Given the description of an element on the screen output the (x, y) to click on. 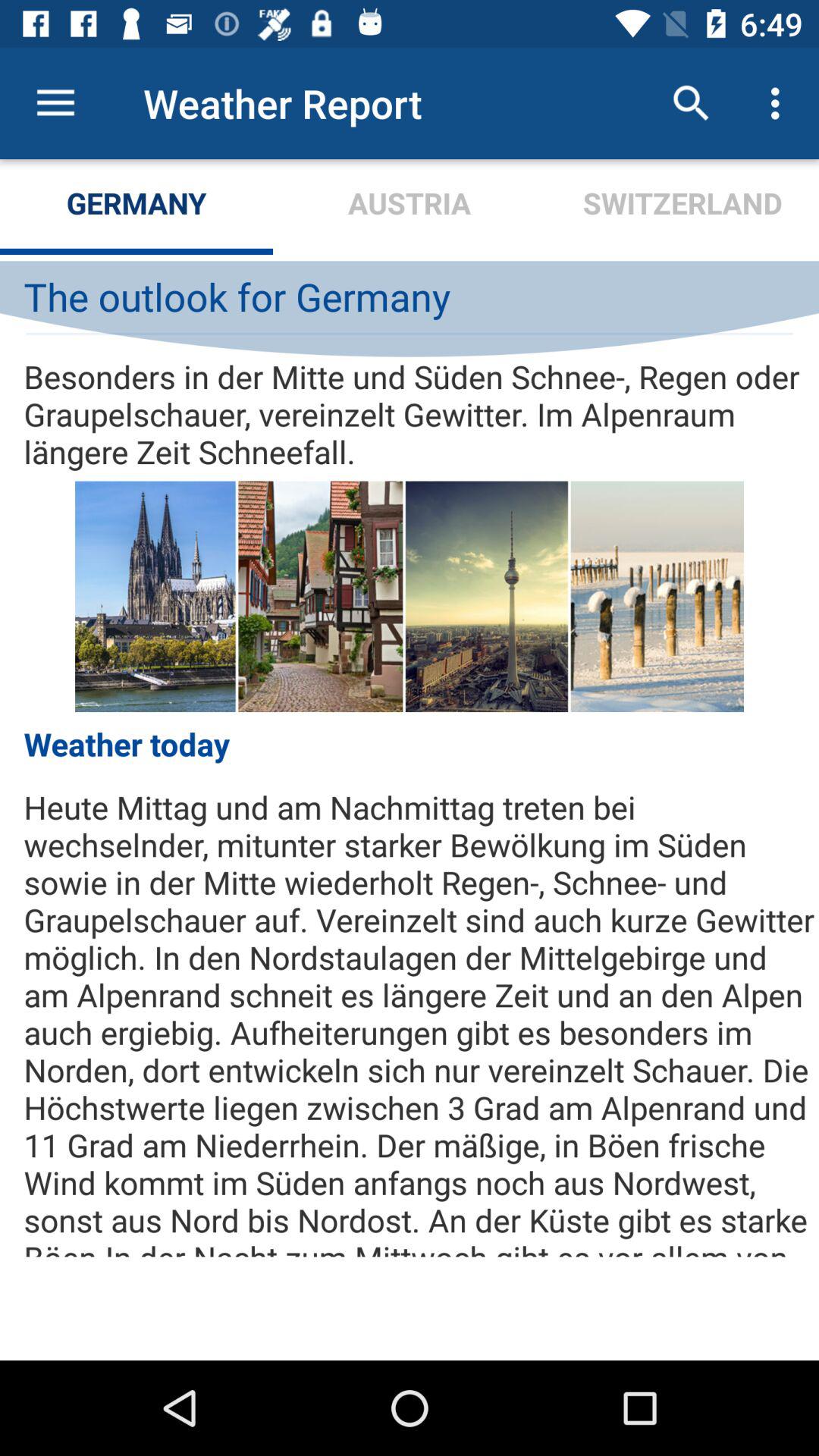
select icon next to weather report icon (55, 103)
